Given the description of an element on the screen output the (x, y) to click on. 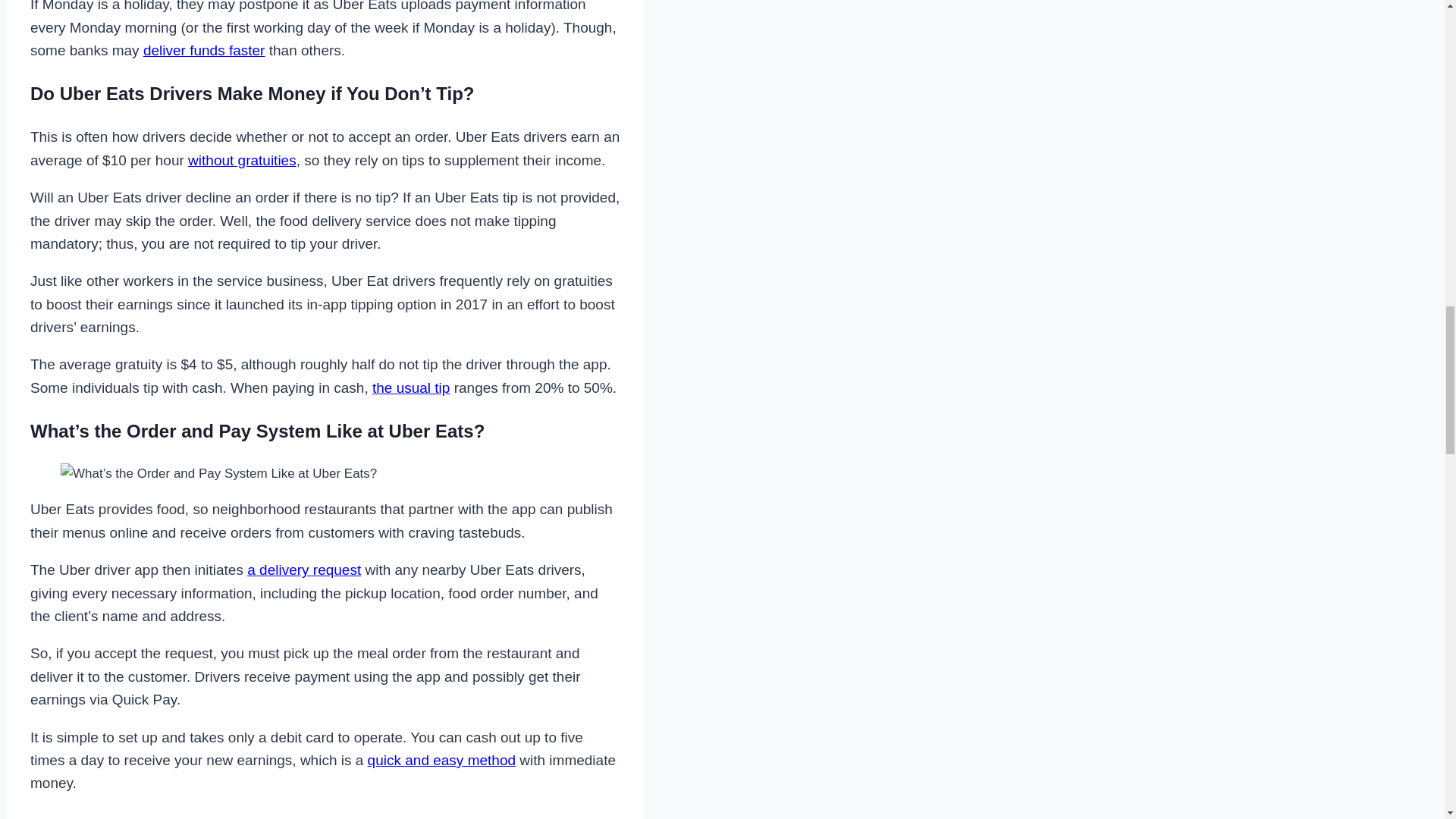
a delivery request (304, 569)
the usual tip (410, 387)
without gratuities (242, 160)
quick and easy method (441, 760)
deliver funds faster (203, 50)
